Given the description of an element on the screen output the (x, y) to click on. 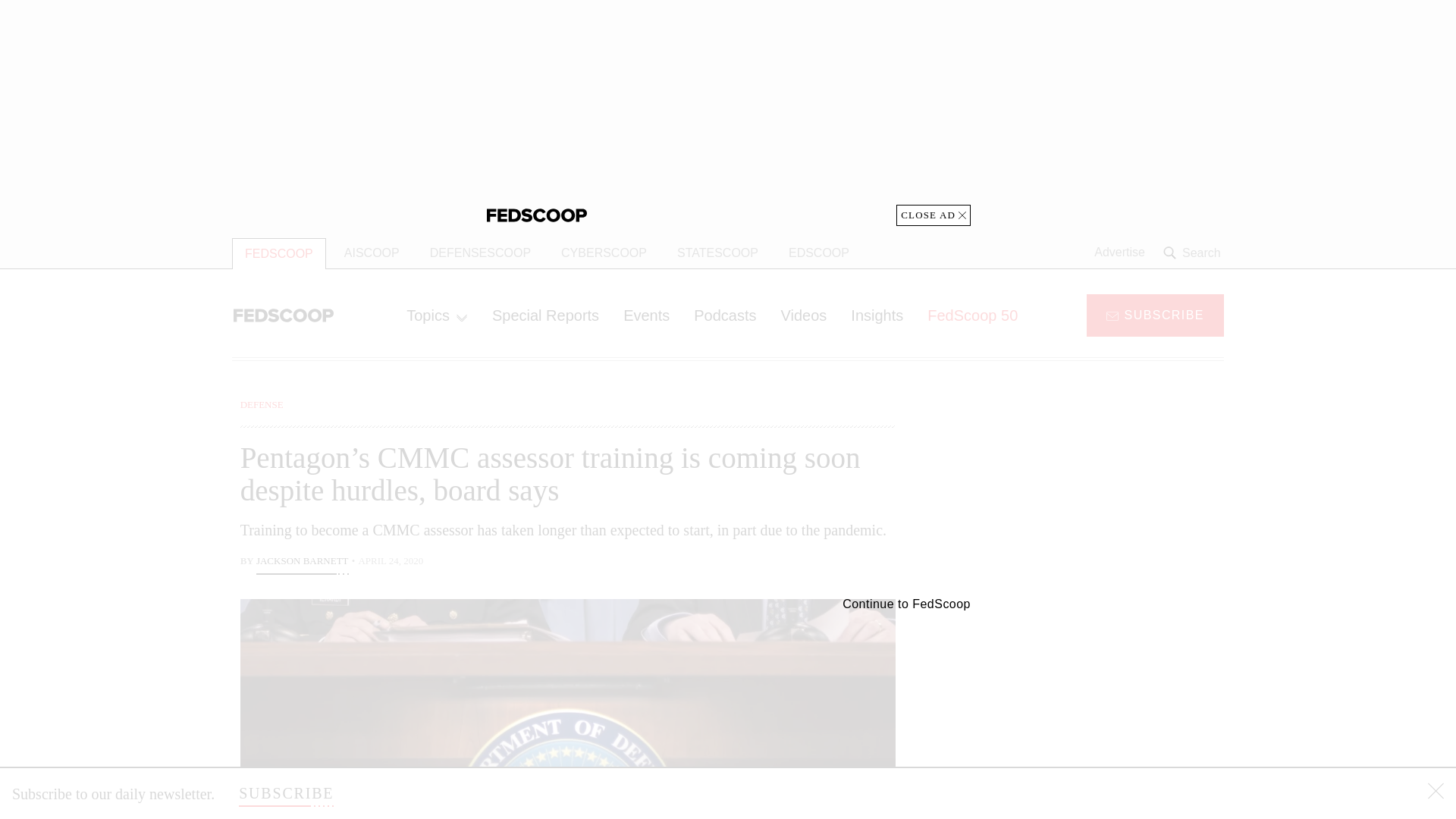
Events (646, 315)
Videos (804, 315)
Jackson Barnett (302, 562)
AISCOOP (371, 253)
EDSCOOP (818, 253)
STATESCOOP (717, 253)
Podcasts (724, 315)
3rd party ad content (727, 112)
DEFENSE (261, 404)
